Given the description of an element on the screen output the (x, y) to click on. 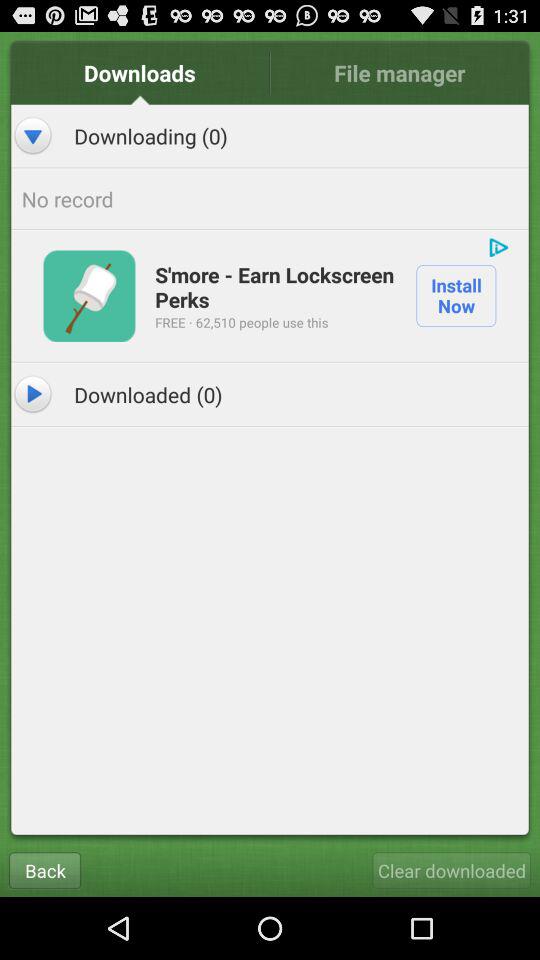
choose icon next to s more earn (89, 295)
